Given the description of an element on the screen output the (x, y) to click on. 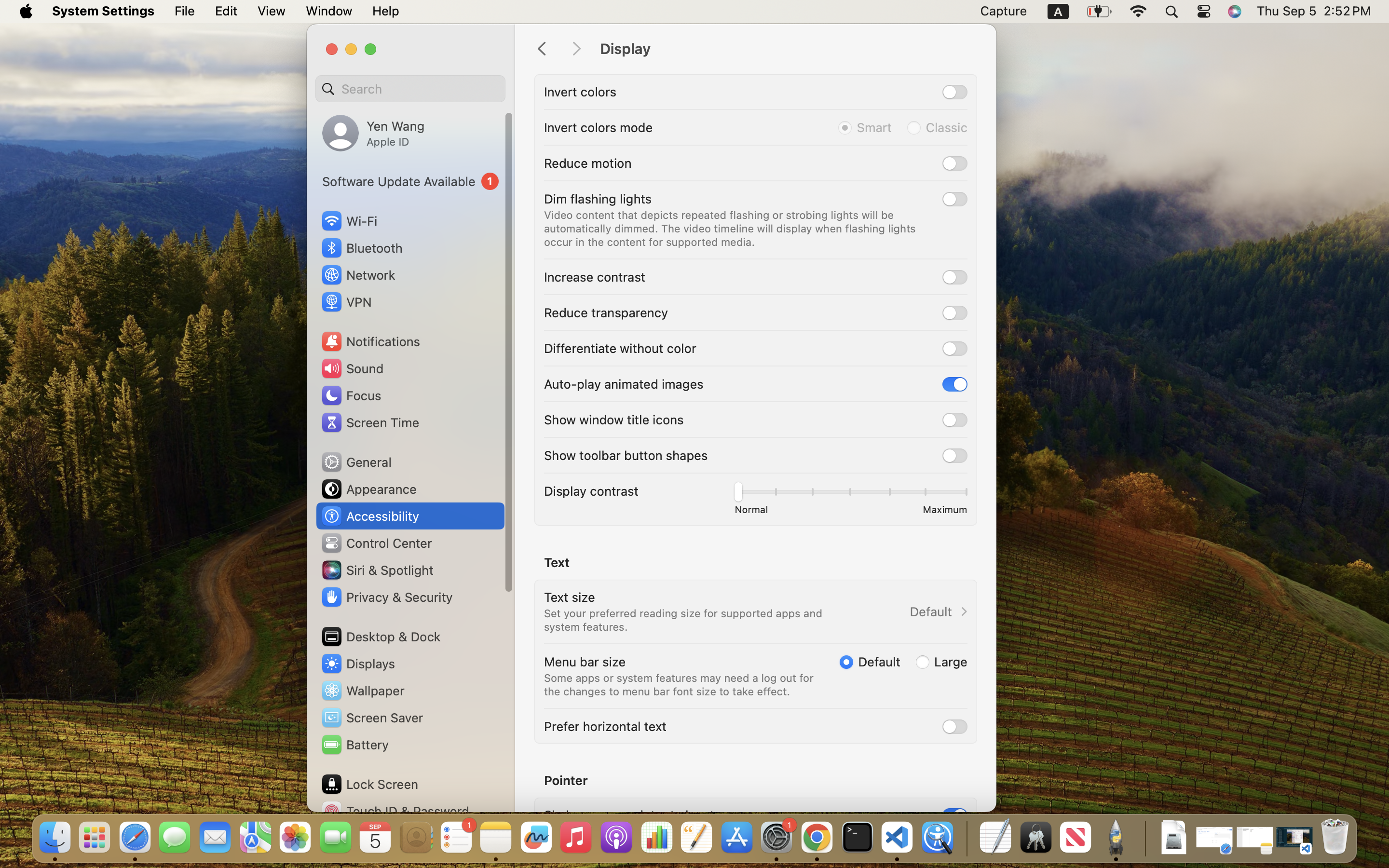
Network Element type: AXStaticText (357, 274)
Focus Element type: AXStaticText (350, 394)
Desktop & Dock Element type: AXStaticText (380, 636)
Privacy & Security Element type: AXStaticText (386, 596)
Notifications Element type: AXStaticText (370, 340)
